Given the description of an element on the screen output the (x, y) to click on. 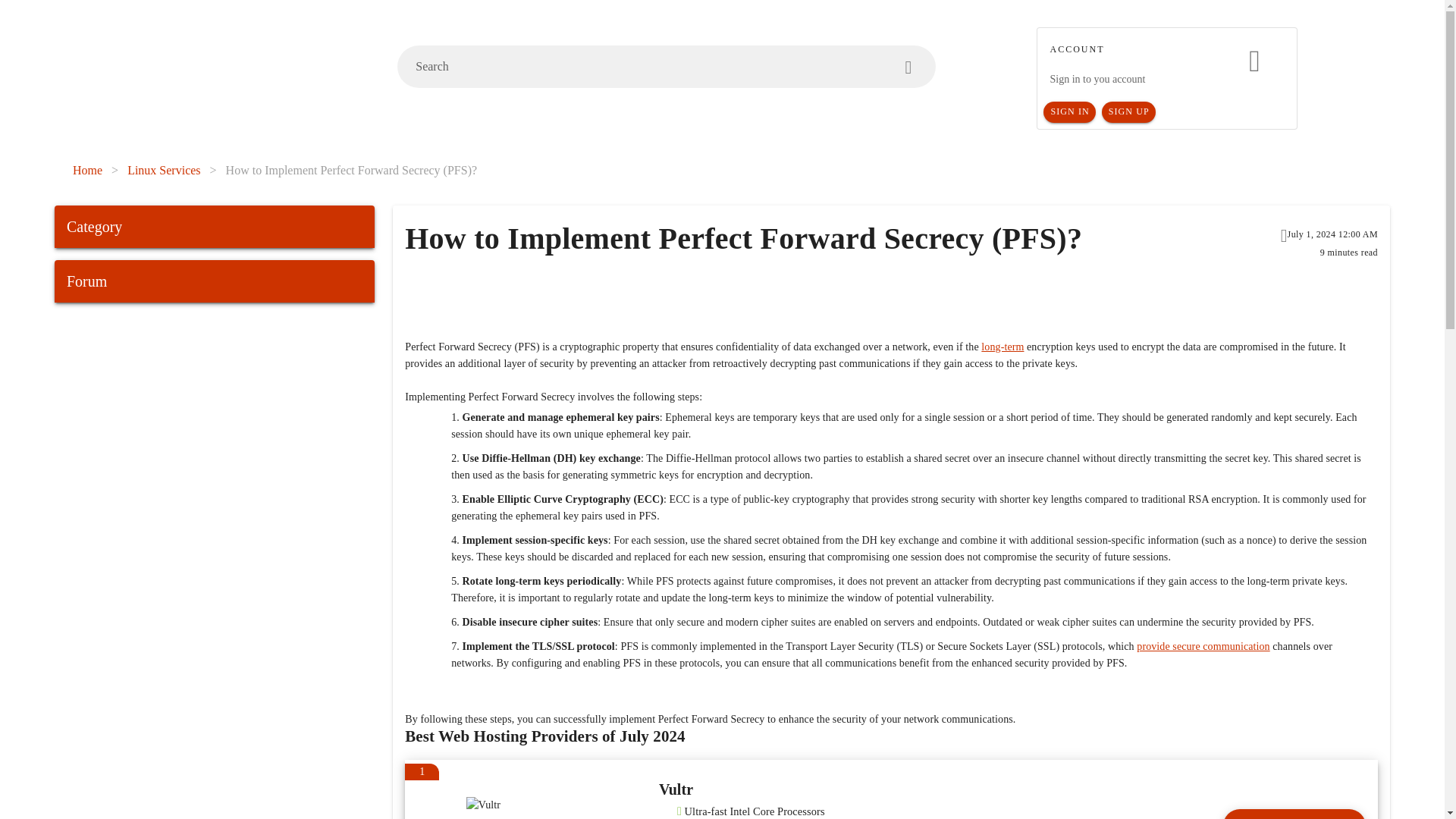
Linux Services (164, 170)
Home (86, 170)
provide secure communication (1203, 645)
long-term (1002, 346)
SIGN UP (1129, 111)
SIGN IN (1068, 111)
GET STARTED NOW (1294, 814)
